Given the description of an element on the screen output the (x, y) to click on. 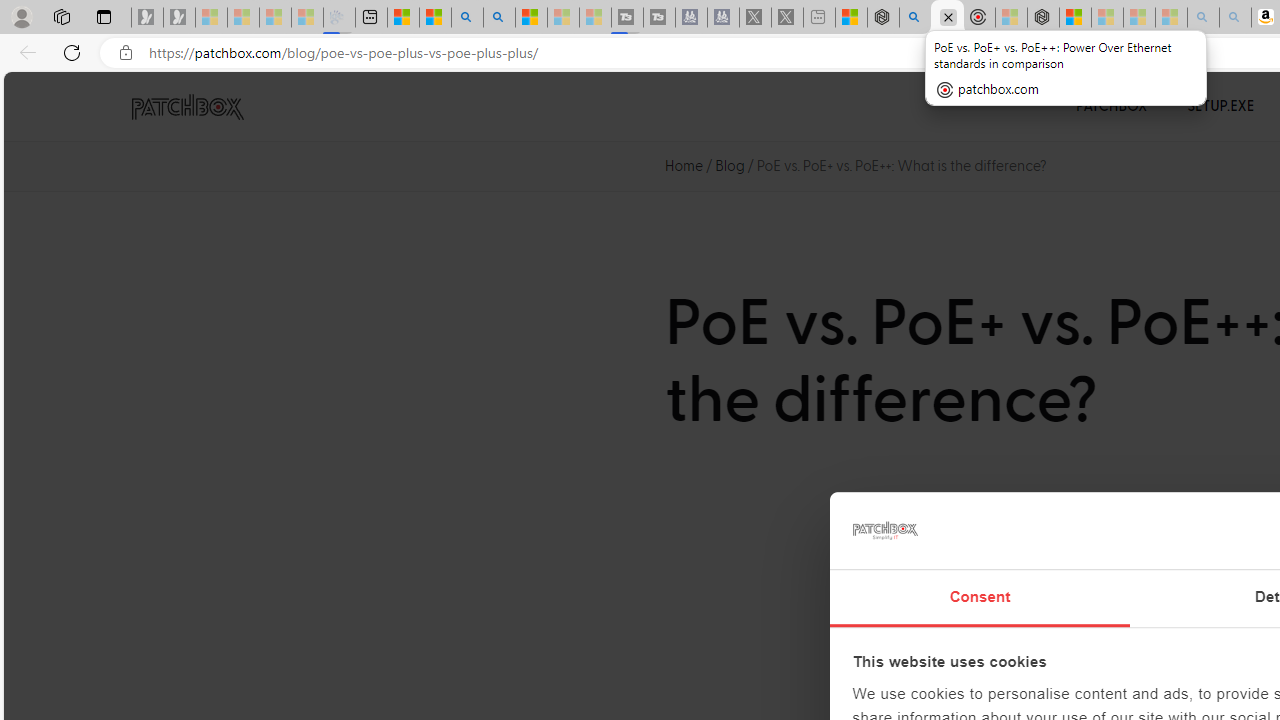
Newsletter Sign Up - Sleeping (178, 17)
poe - Search (914, 17)
Amazon Echo Dot PNG - Search Images - Sleeping (1234, 17)
Consent (979, 598)
